Given the description of an element on the screen output the (x, y) to click on. 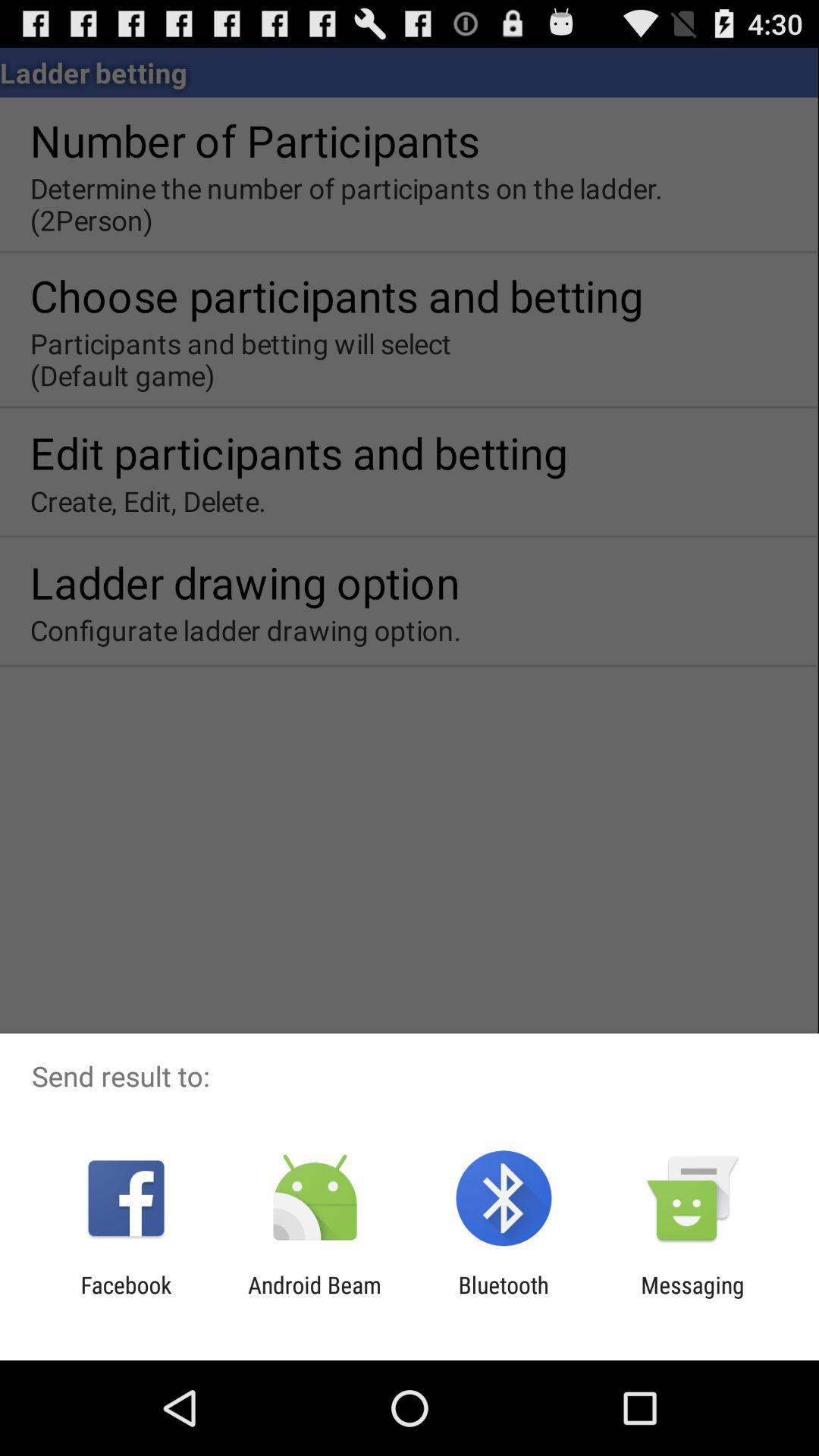
turn off the android beam app (314, 1298)
